Given the description of an element on the screen output the (x, y) to click on. 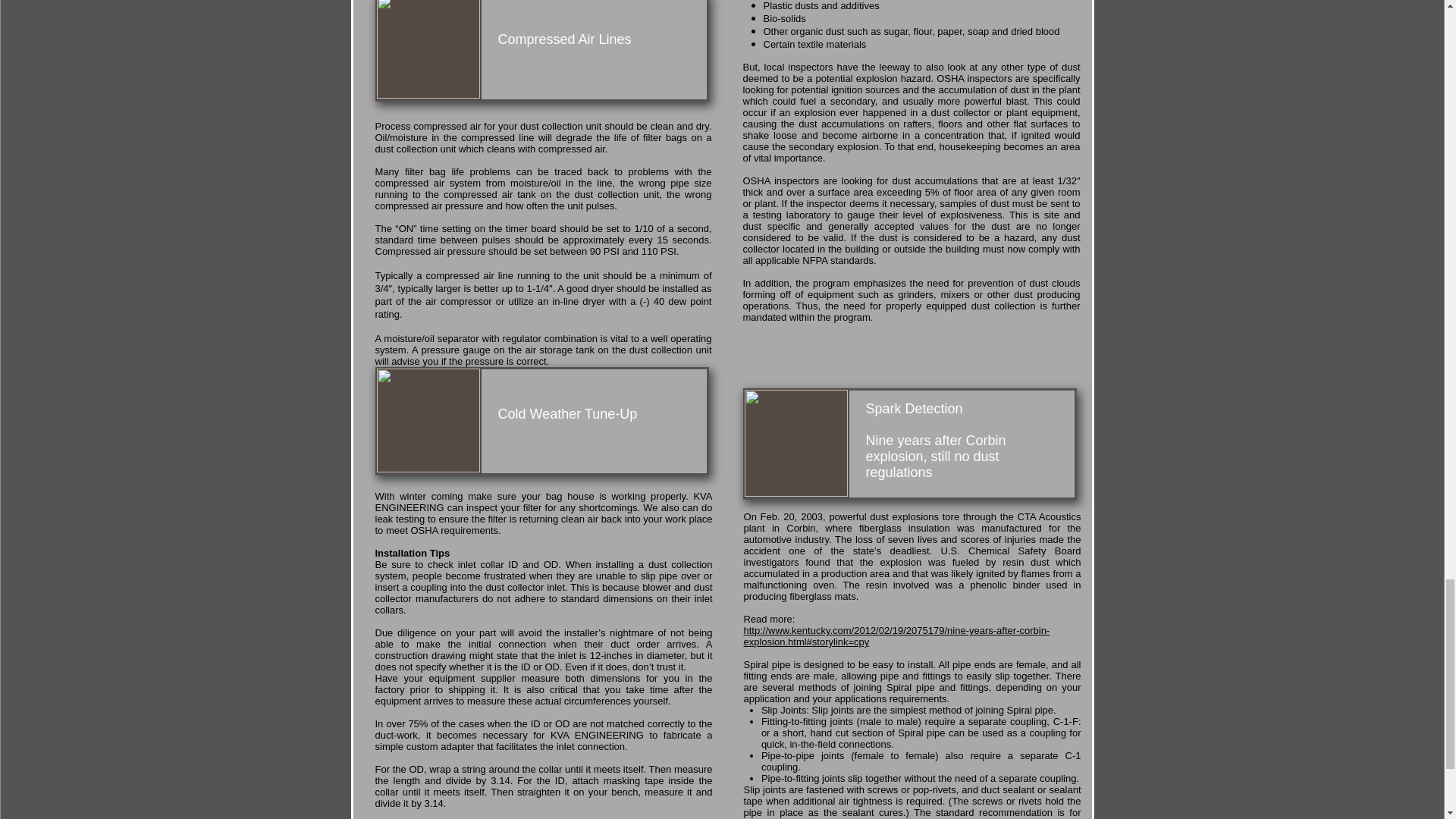
compressedair1.jpg (427, 49)
compressedair1.jpg (427, 420)
spark1.jpg (795, 442)
